Given the description of an element on the screen output the (x, y) to click on. 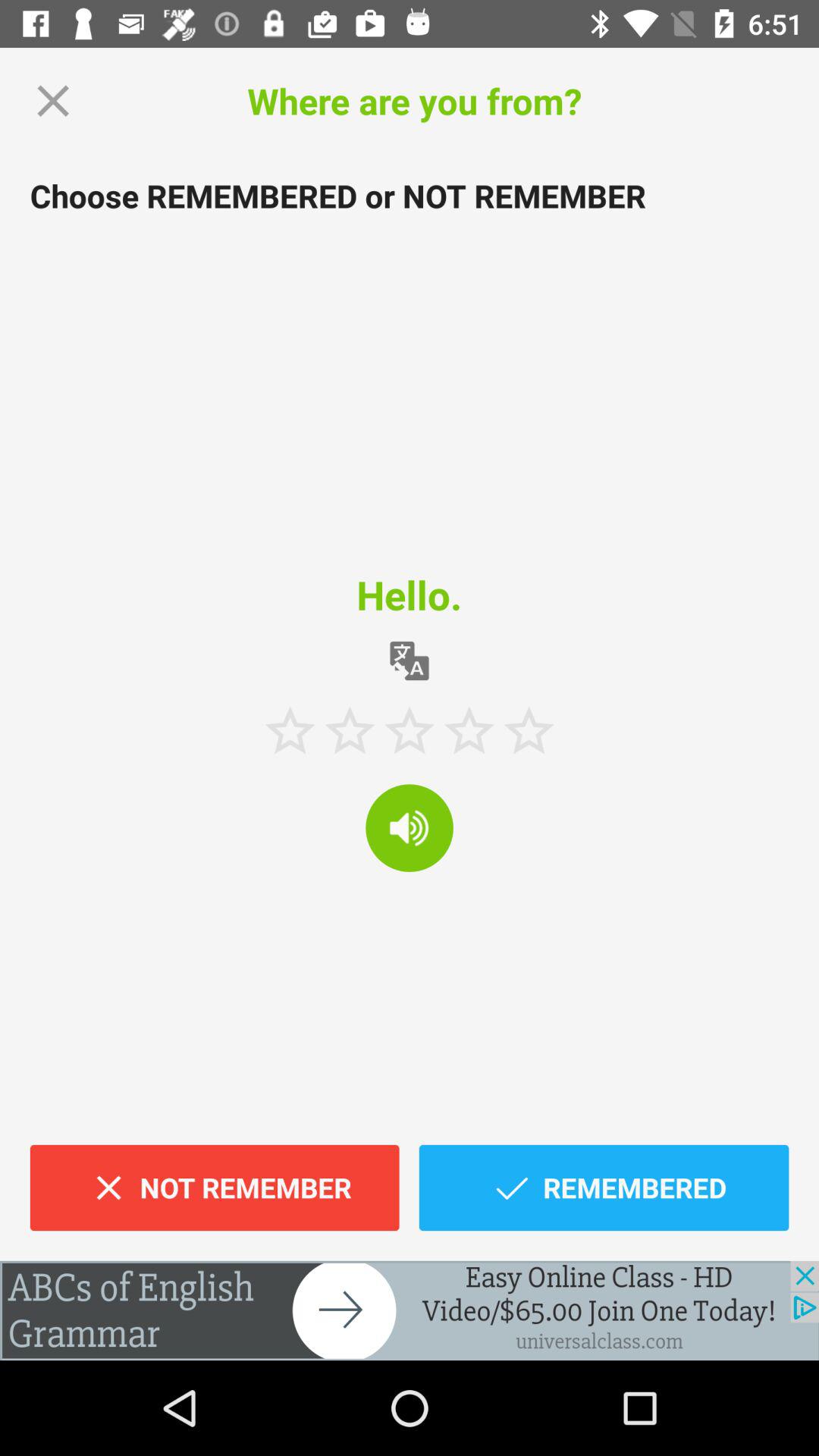
click on second star (349, 730)
